Given the description of an element on the screen output the (x, y) to click on. 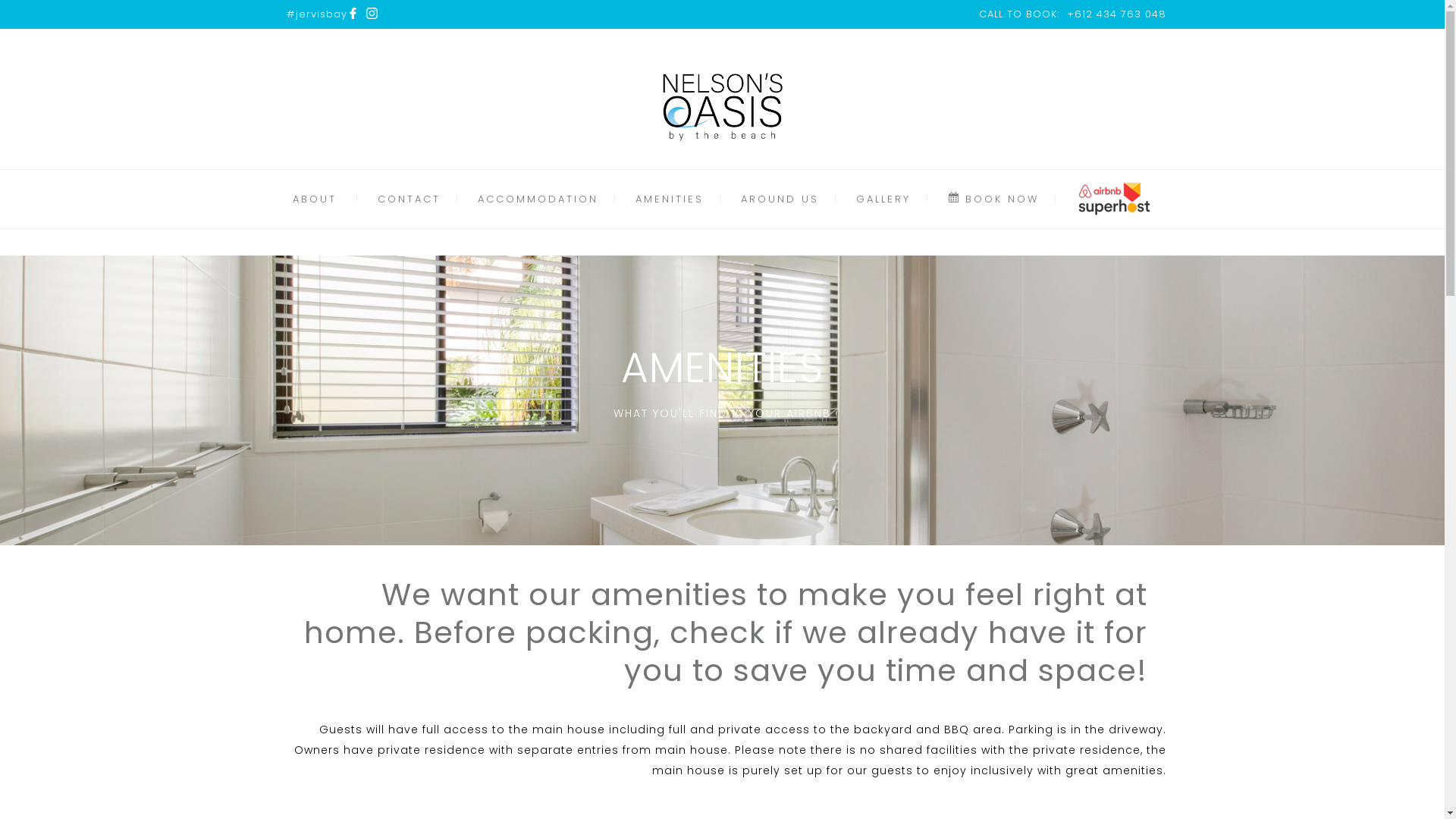
ABOUT Element type: text (314, 198)
CONTACT Element type: text (408, 198)
ACCOMMODATION Element type: text (537, 198)
GALLERY Element type: text (883, 198)
AROUND US Element type: text (779, 198)
BOOK NOW Element type: text (992, 198)
+612 434 763 048 Element type: text (1115, 13)
CALL TO BOOK: Element type: text (1018, 13)
AMENITIES Element type: text (669, 198)
#jervisbay Element type: text (316, 13)
Airbnb Element type: text (1113, 198)
